Given the description of an element on the screen output the (x, y) to click on. 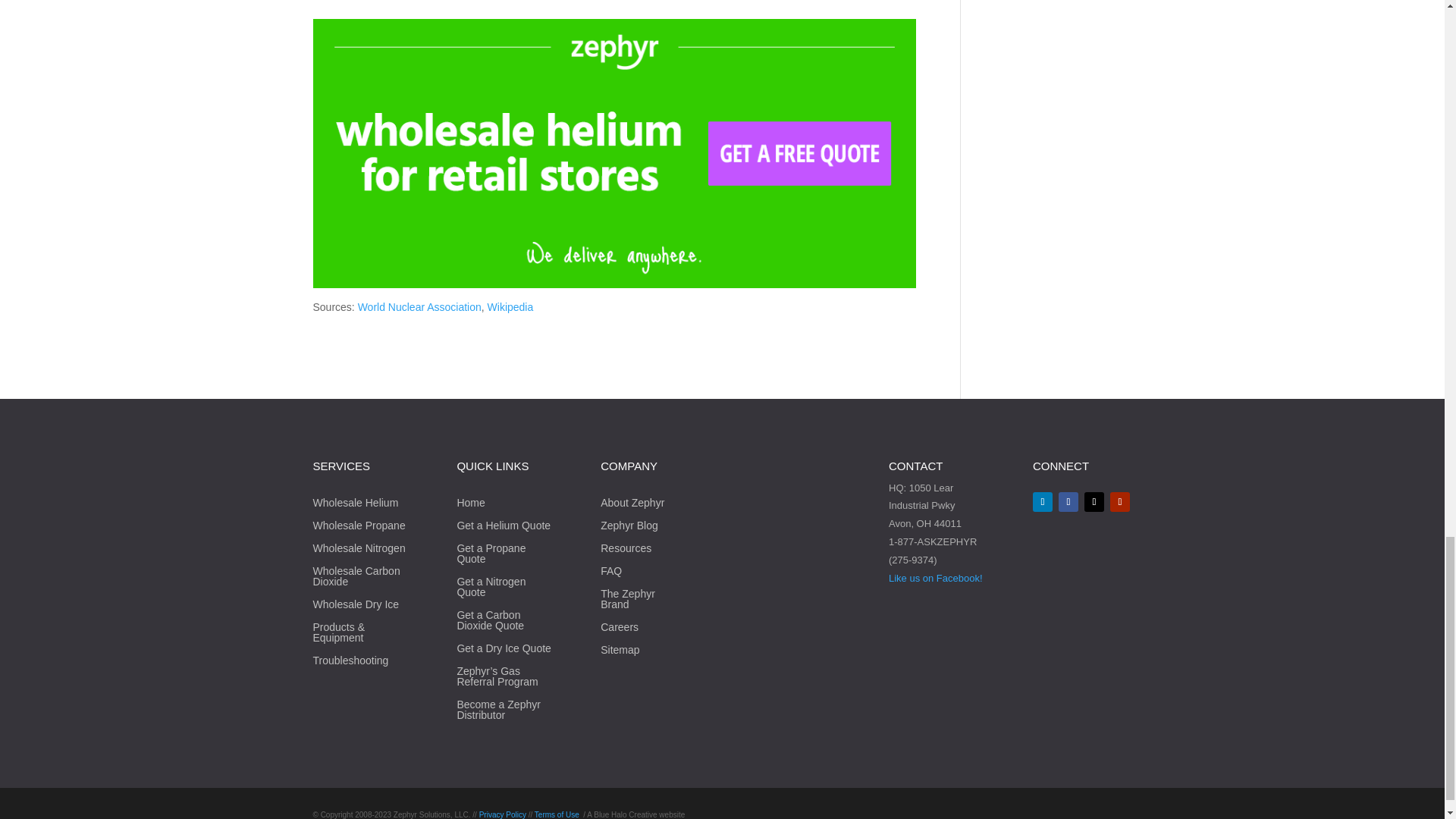
World Nuclear Association (419, 306)
Wikipedia (510, 306)
Home (470, 505)
Wholesale Carbon Dioxide (361, 578)
Wholesale Nitrogen (358, 550)
Wholesale Dry Ice (355, 606)
Wholesale Propane (358, 528)
Wholesale Helium (355, 505)
